Given the description of an element on the screen output the (x, y) to click on. 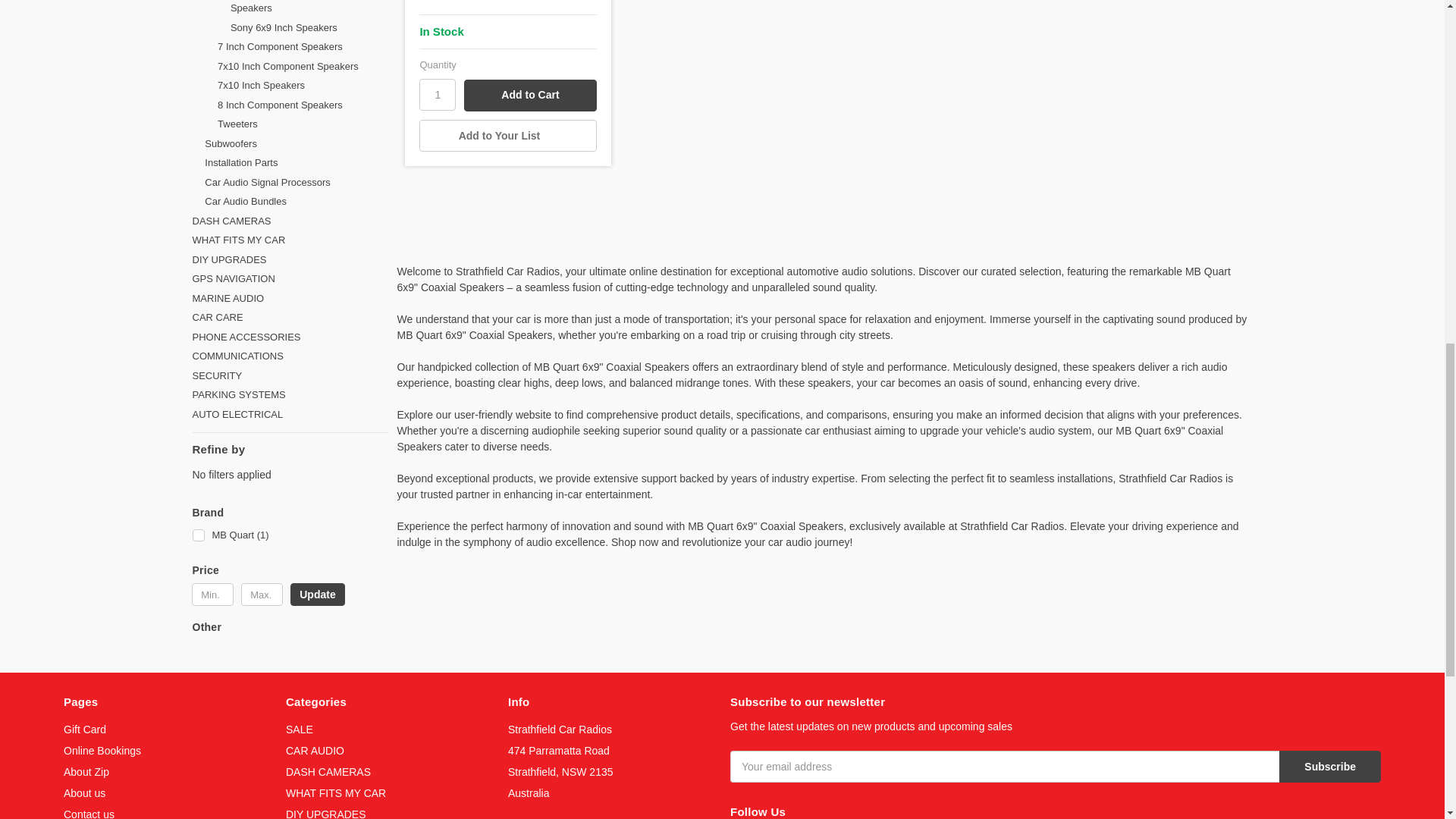
1 (437, 151)
Add to Cart (529, 151)
Subscribe (1329, 812)
